Given the description of an element on the screen output the (x, y) to click on. 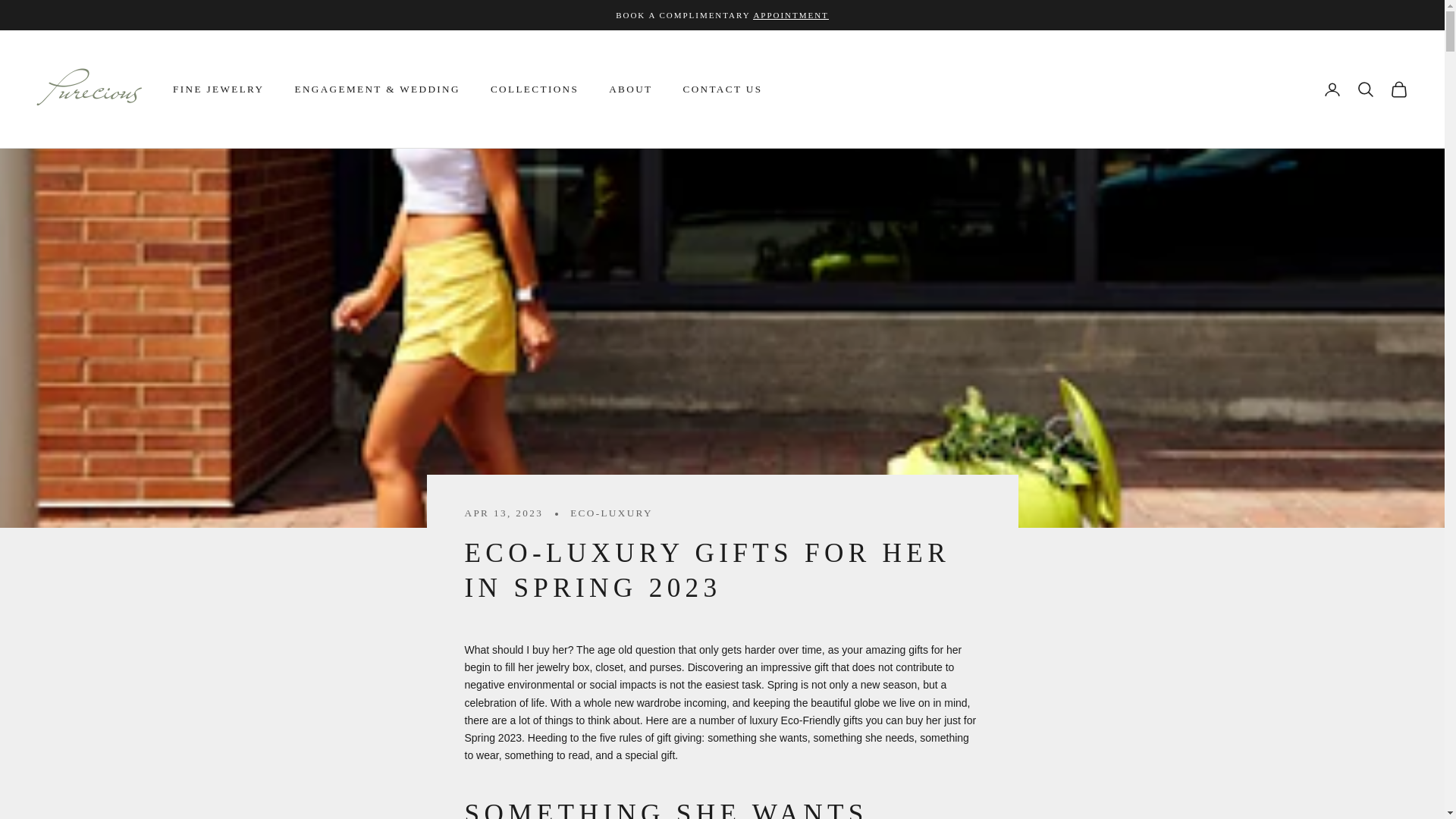
Open cart (1398, 89)
APPOINTMENT (790, 14)
Contact (790, 14)
Open account page (1331, 89)
Purecious LLC (89, 89)
Open search (1365, 89)
